Given the description of an element on the screen output the (x, y) to click on. 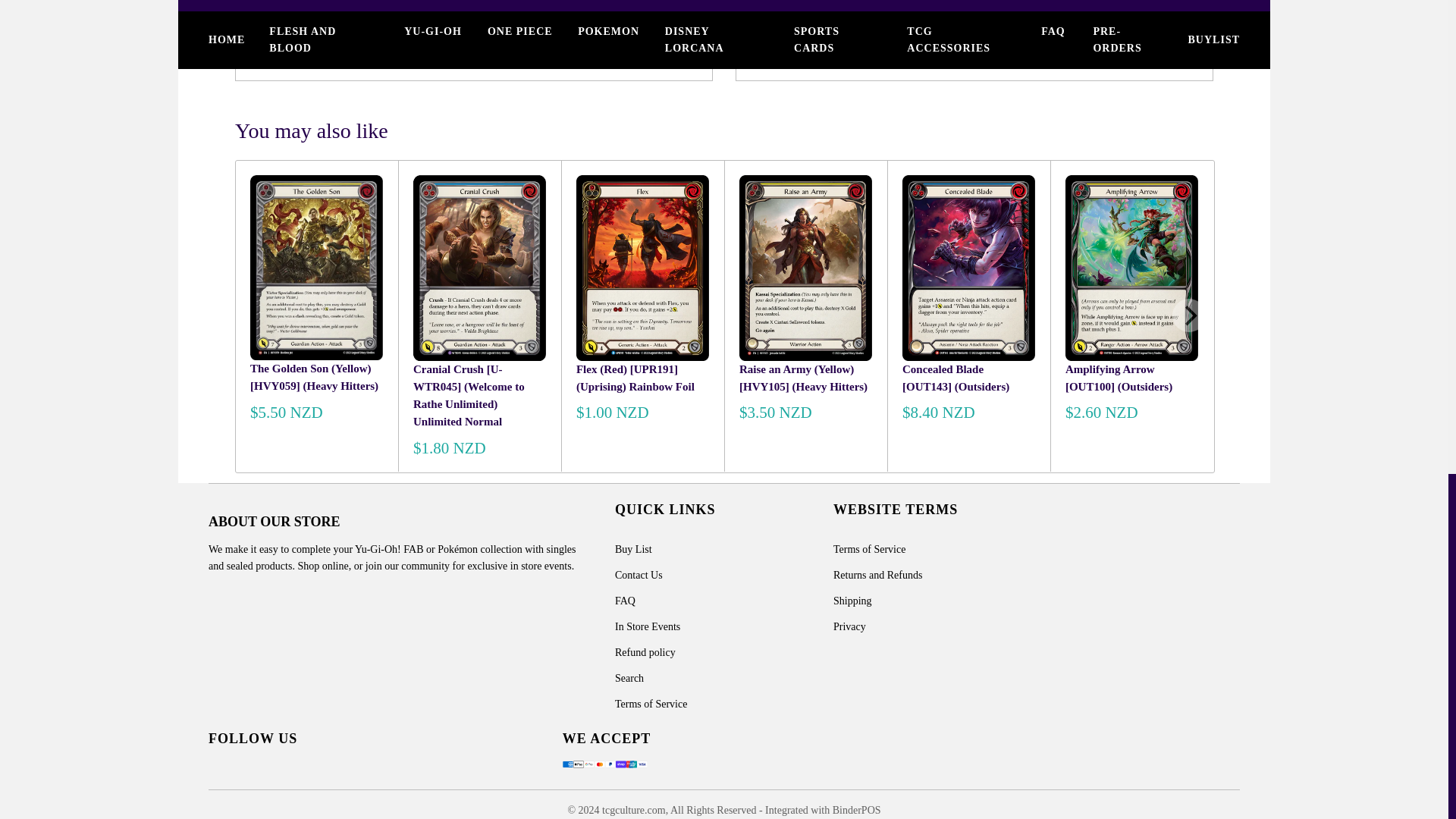
Apple Pay (303, 13)
Shop Pay (429, 13)
American Express (272, 13)
Mastercard (367, 13)
Google Pay (335, 13)
Visa (493, 13)
Union Pay (461, 13)
American Express (567, 764)
PayPal (398, 13)
